Given the description of an element on the screen output the (x, y) to click on. 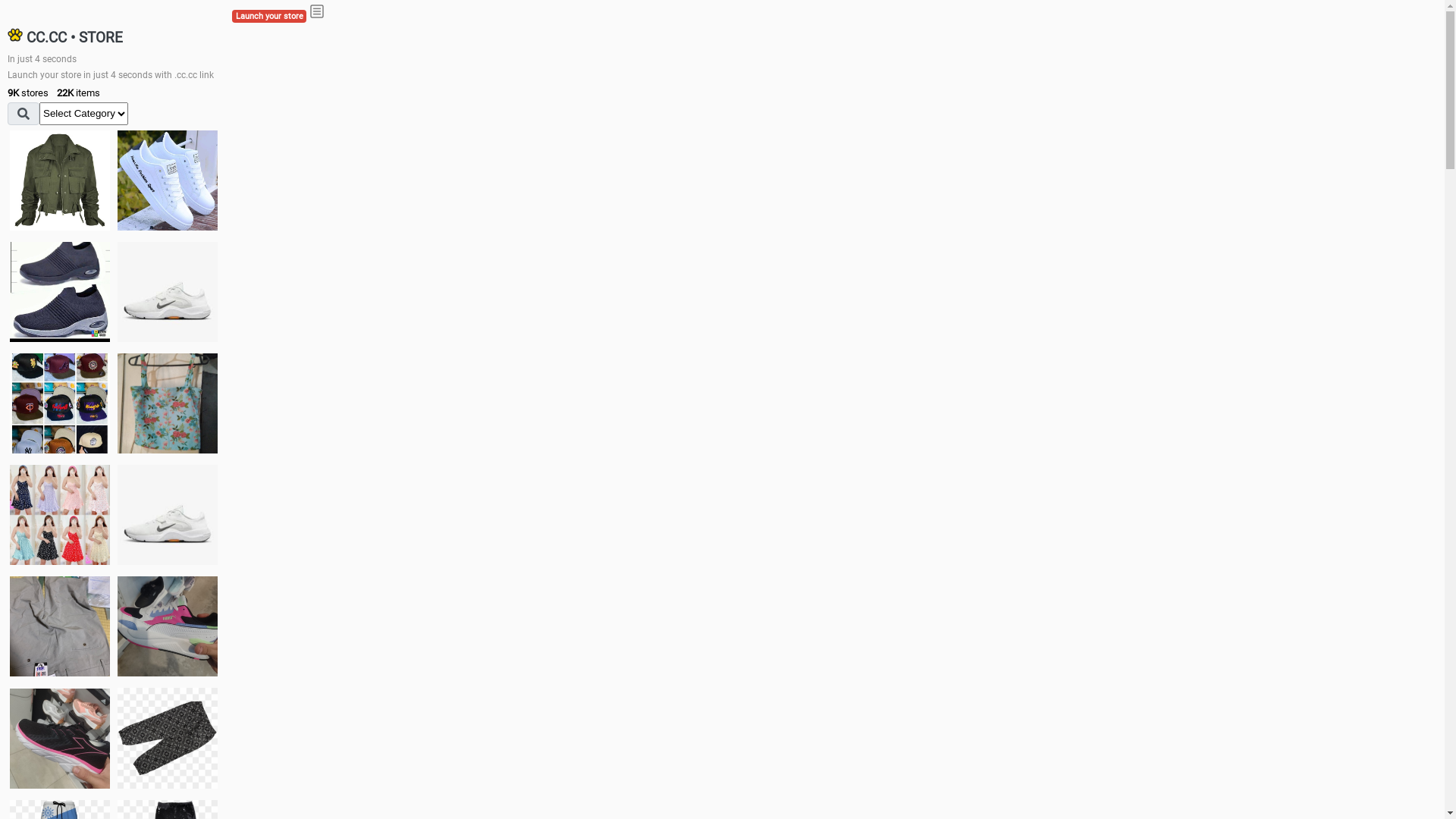
Dress/square nect top Element type: hover (59, 514)
jacket Element type: hover (59, 180)
Short pant Element type: hover (167, 737)
Shoes Element type: hover (167, 514)
Zapatillas Element type: hover (59, 738)
white shoes Element type: hover (167, 180)
Shoes for boys Element type: hover (167, 291)
Launch your store Element type: text (269, 15)
Things we need Element type: hover (59, 403)
Ukay cloth Element type: hover (167, 403)
shoes for boys Element type: hover (59, 291)
Zapatillas pumas Element type: hover (167, 626)
